Given the description of an element on the screen output the (x, y) to click on. 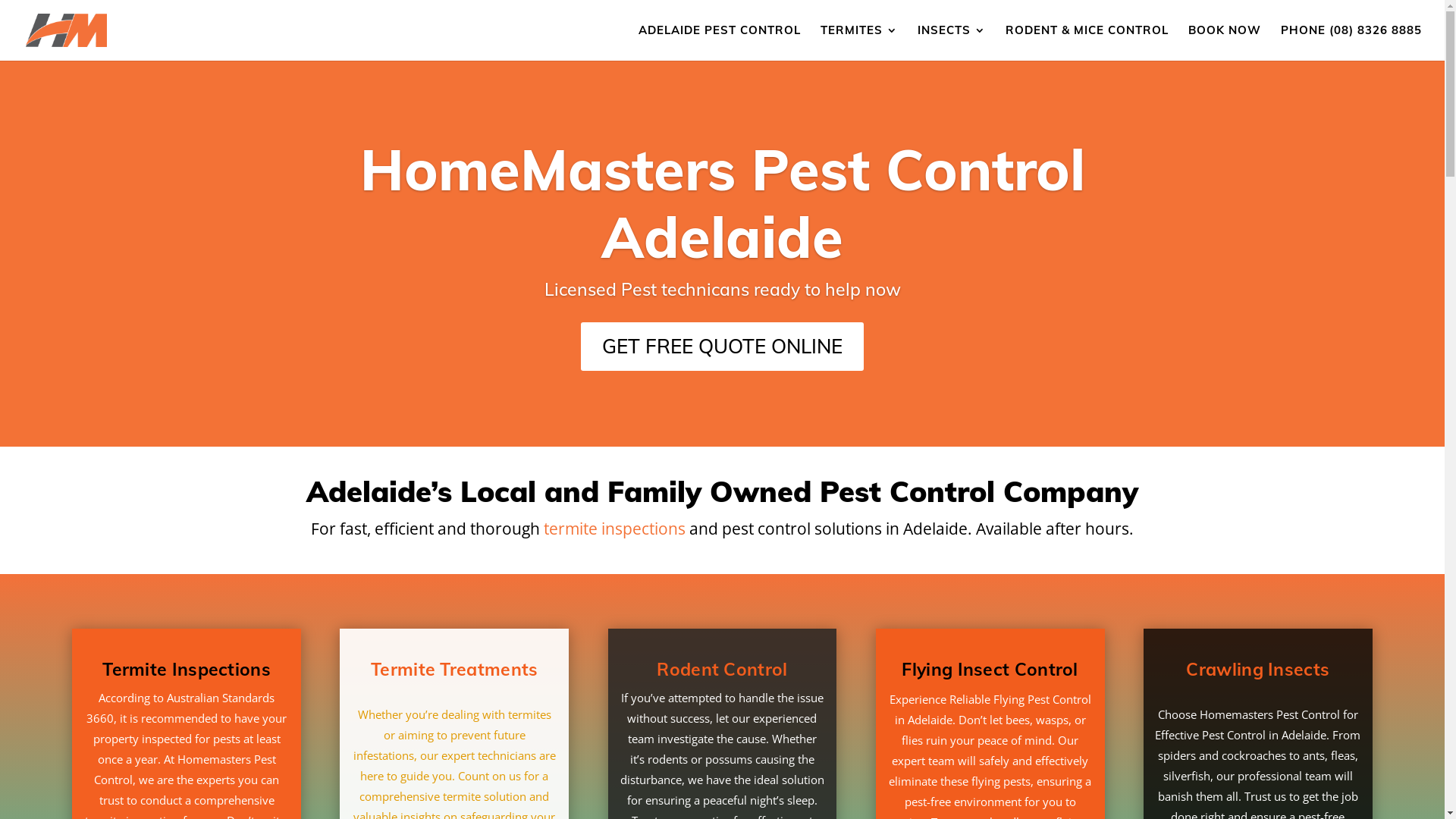
GET FREE QUOTE ONLINE Element type: text (721, 346)
INSECTS Element type: text (951, 42)
PHONE (08) 8326 8885 Element type: text (1350, 42)
RODENT & MICE CONTROL Element type: text (1086, 42)
TERMITES Element type: text (858, 42)
termite inspections Element type: text (614, 528)
ADELAIDE PEST CONTROL Element type: text (719, 42)
BOOK NOW Element type: text (1224, 42)
HomeMasters Pest Control Adelaide Element type: text (721, 203)
